Given the description of an element on the screen output the (x, y) to click on. 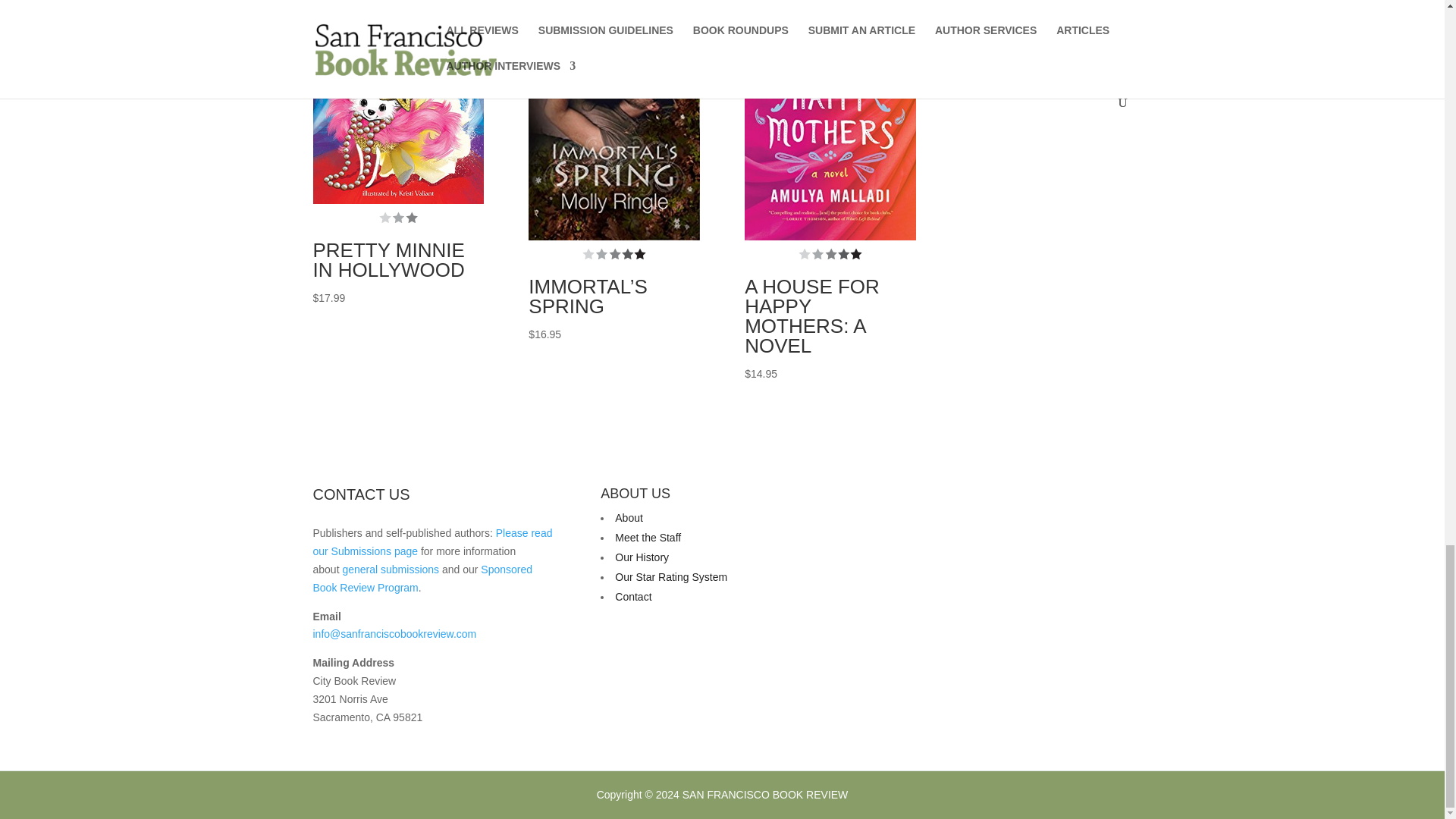
Sponsored Book Review Program (422, 578)
Please read our Submissions page (432, 542)
general submissions (390, 569)
